Given the description of an element on the screen output the (x, y) to click on. 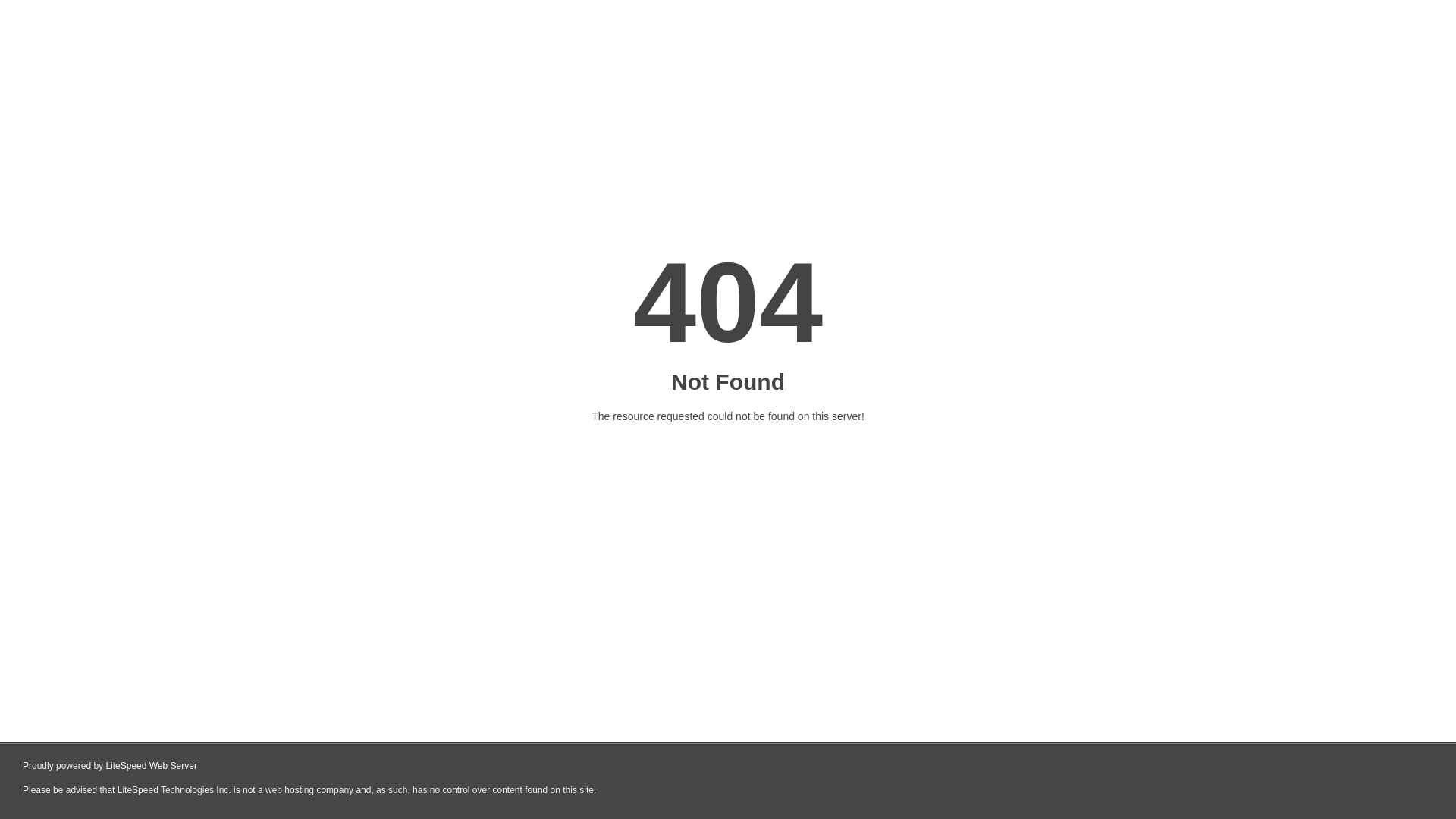
LiteSpeed Web Server Element type: text (151, 765)
